Given the description of an element on the screen output the (x, y) to click on. 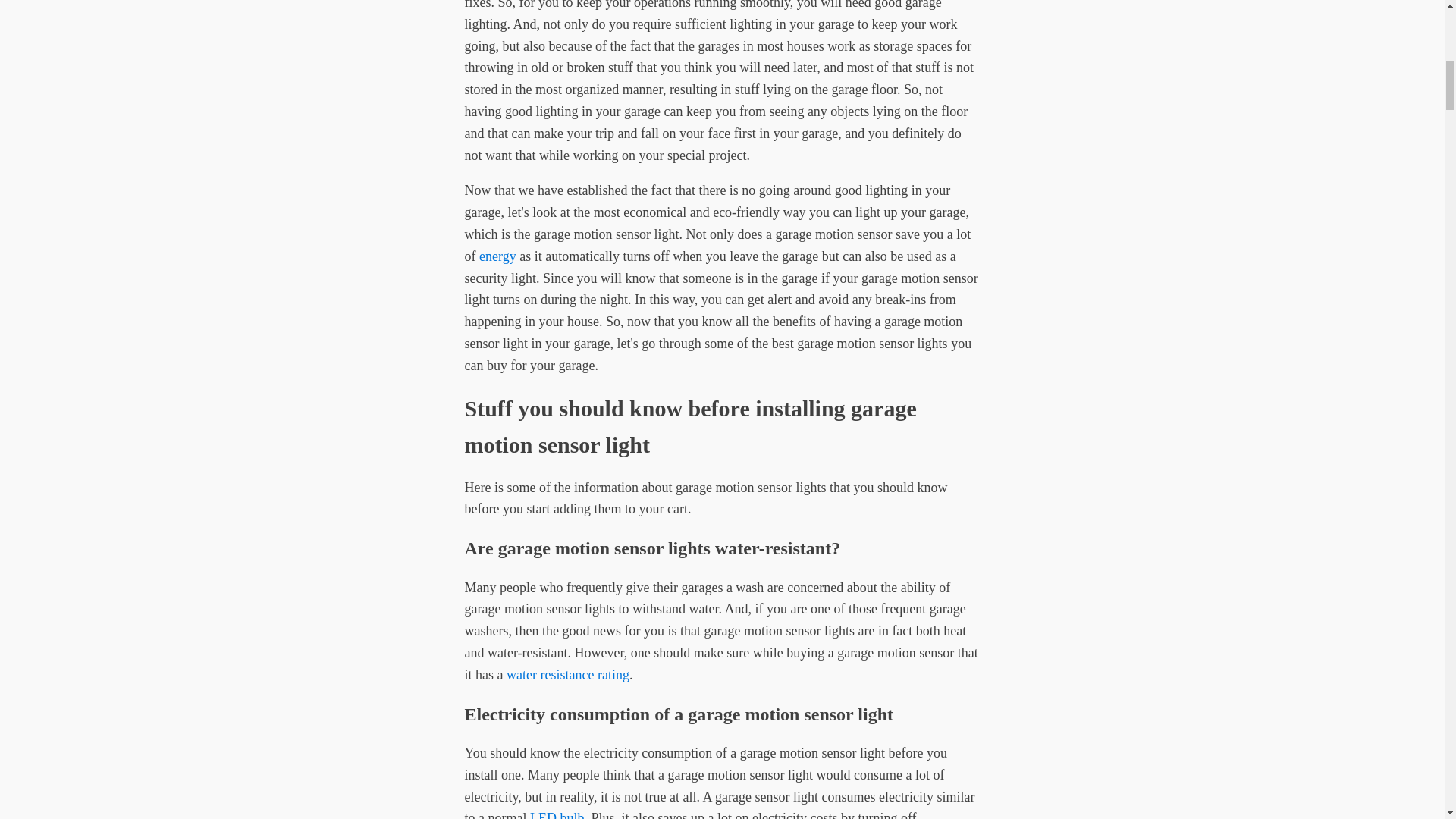
energy (497, 255)
water resistance rating (567, 674)
LED bulb (557, 814)
